Given the description of an element on the screen output the (x, y) to click on. 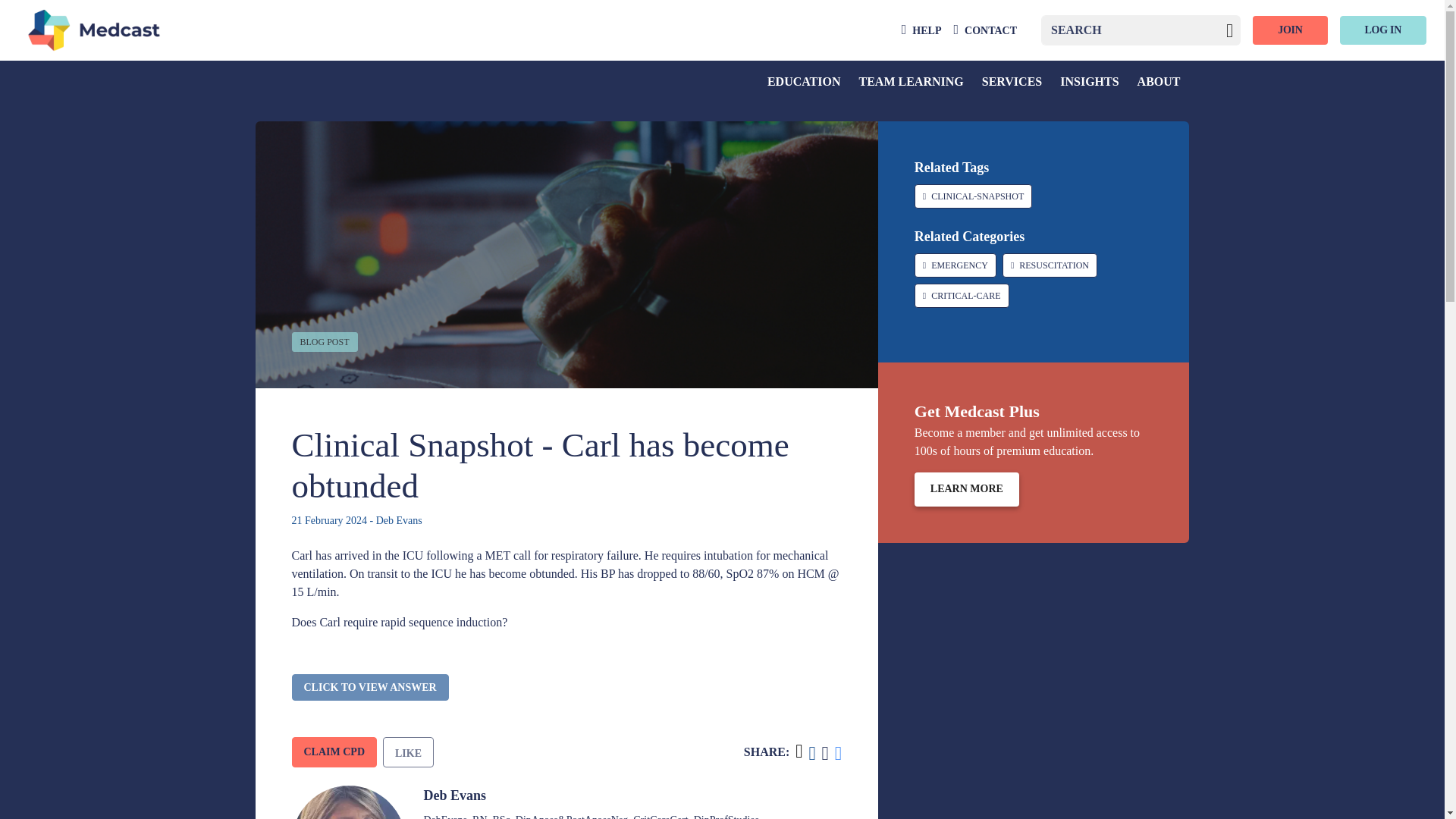
CONTACT (984, 30)
Category: emergency (954, 265)
LOG IN (1382, 30)
JOIN (1289, 30)
HELP (921, 30)
Category: resuscitation (1050, 265)
Tag: clinical-snapshot (973, 196)
Category: critical-care (961, 295)
